Given the description of an element on the screen output the (x, y) to click on. 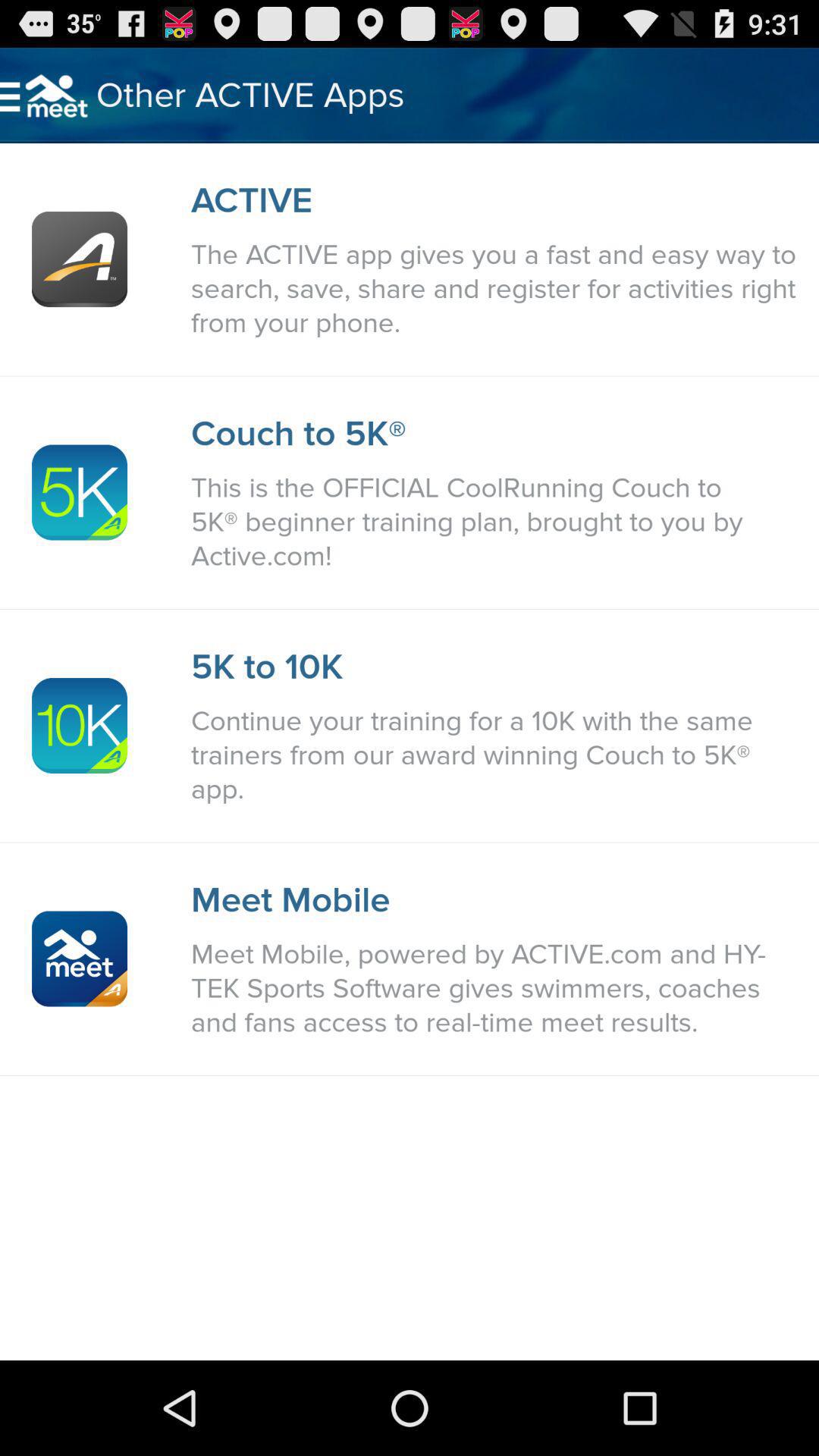
launch continue your training item (497, 755)
